Given the description of an element on the screen output the (x, y) to click on. 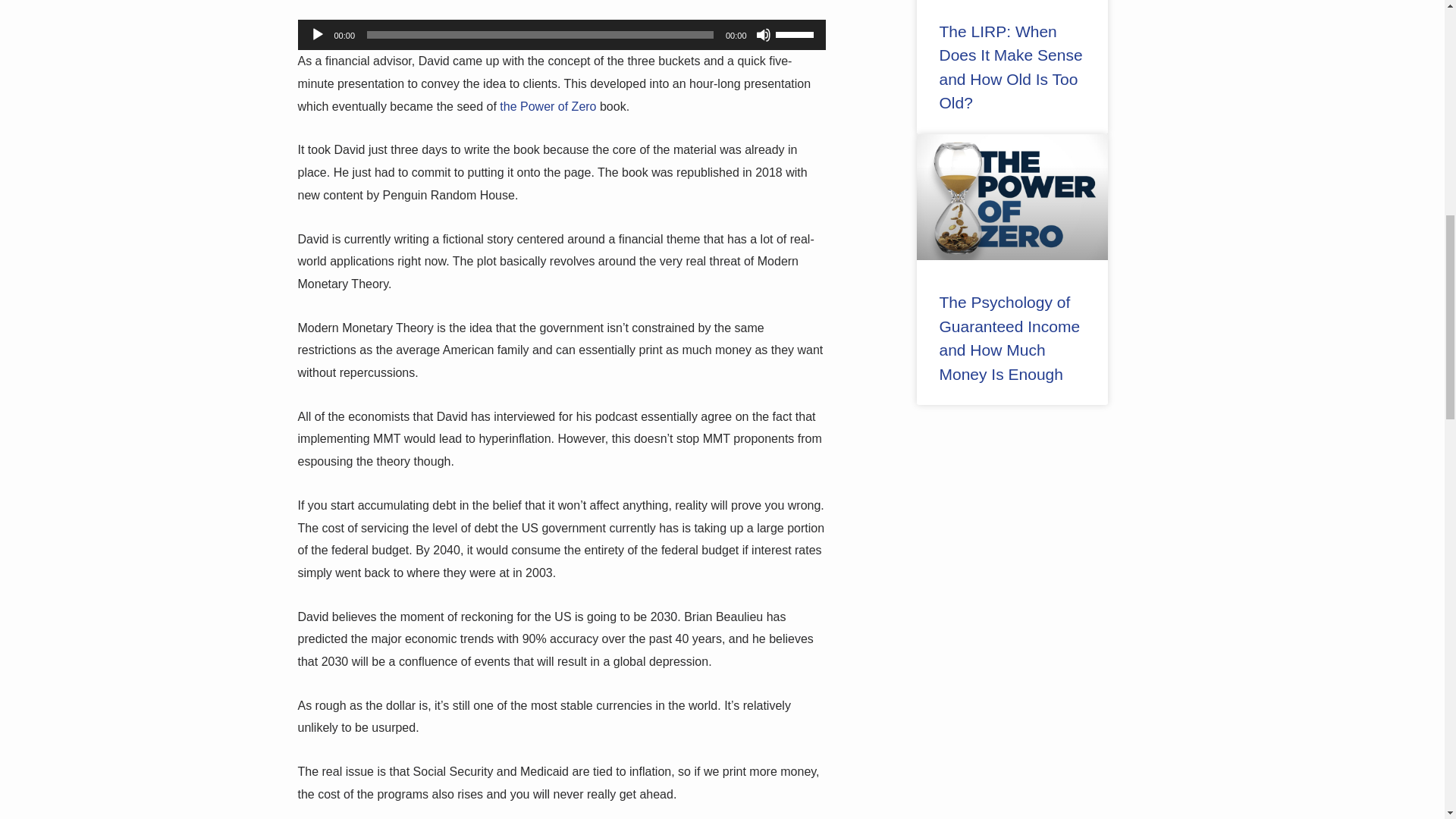
The LIRP: When Does It Make Sense and How Old Is Too Old? (1013, 67)
Play (316, 34)
Mute (762, 34)
the Power of Zero (547, 106)
